Given the description of an element on the screen output the (x, y) to click on. 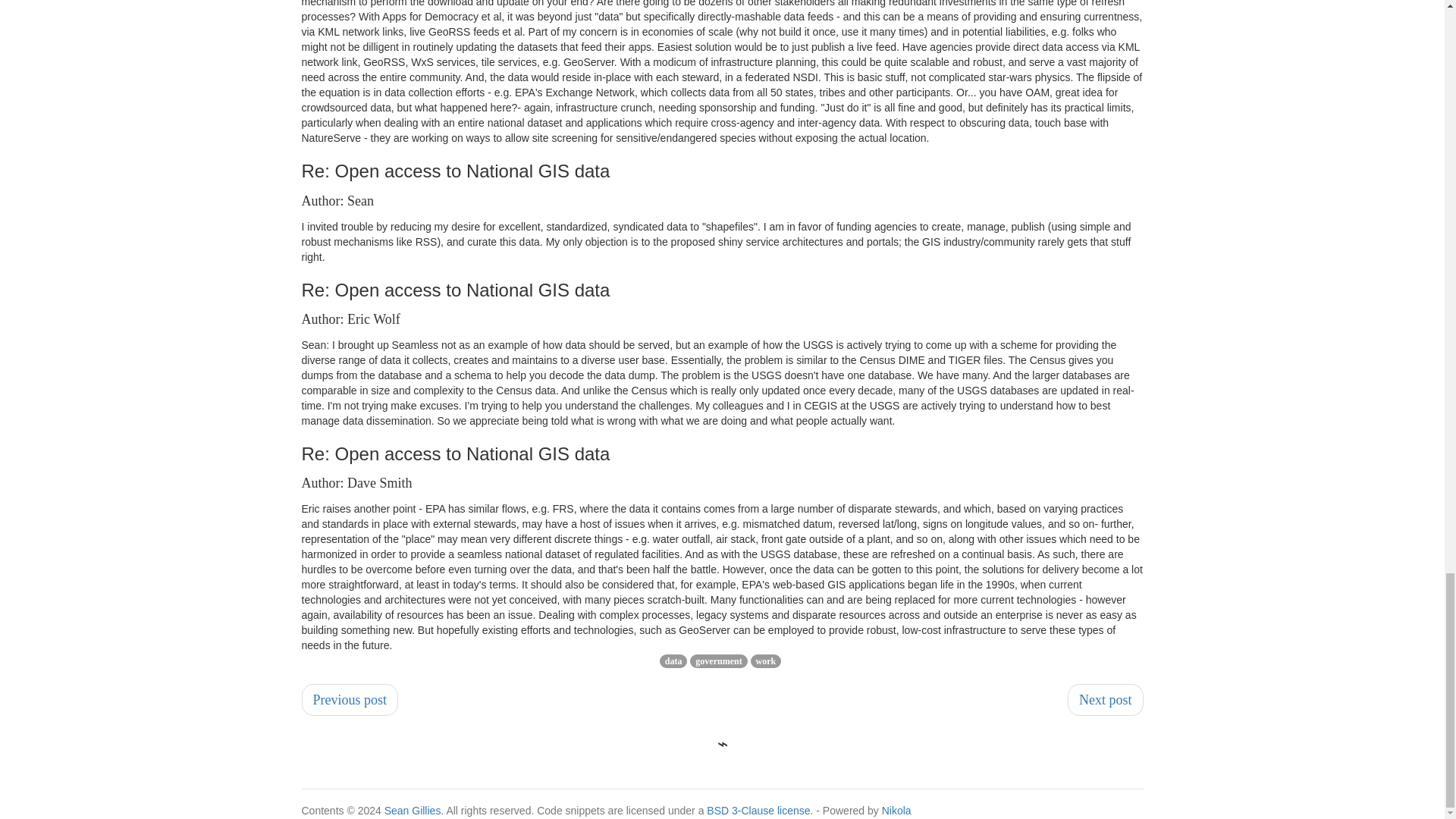
BSD 3-Clause license (757, 810)
data (673, 661)
work (765, 661)
Sean Gillies (412, 810)
Nikola (896, 810)
Previous post (349, 699)
Next post (1104, 699)
Links in content (349, 699)
government (718, 661)
Toward Shapely 1.1 (1104, 699)
